Given the description of an element on the screen output the (x, y) to click on. 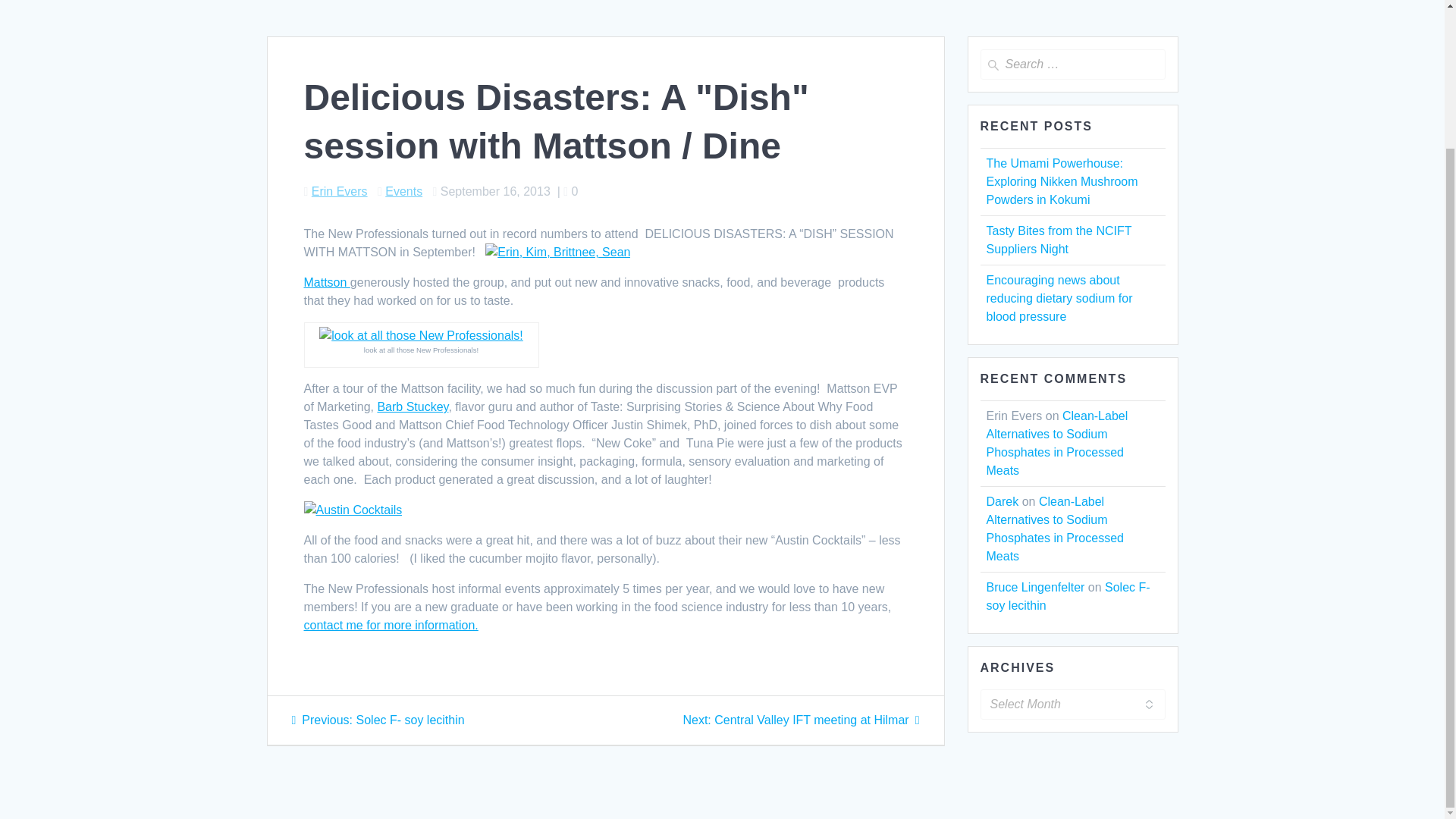
Tasty Bites from the NCIFT Suppliers Night (1058, 239)
Mattson (800, 719)
Solec F- soy lecithin (325, 282)
Erin Evers (1067, 595)
Darek (339, 191)
Posts by Erin Evers (1001, 501)
Events (339, 191)
Bruce Lingenfelter (403, 191)
contact me for more information. (1034, 586)
Barb Stuckey (389, 625)
